Given the description of an element on the screen output the (x, y) to click on. 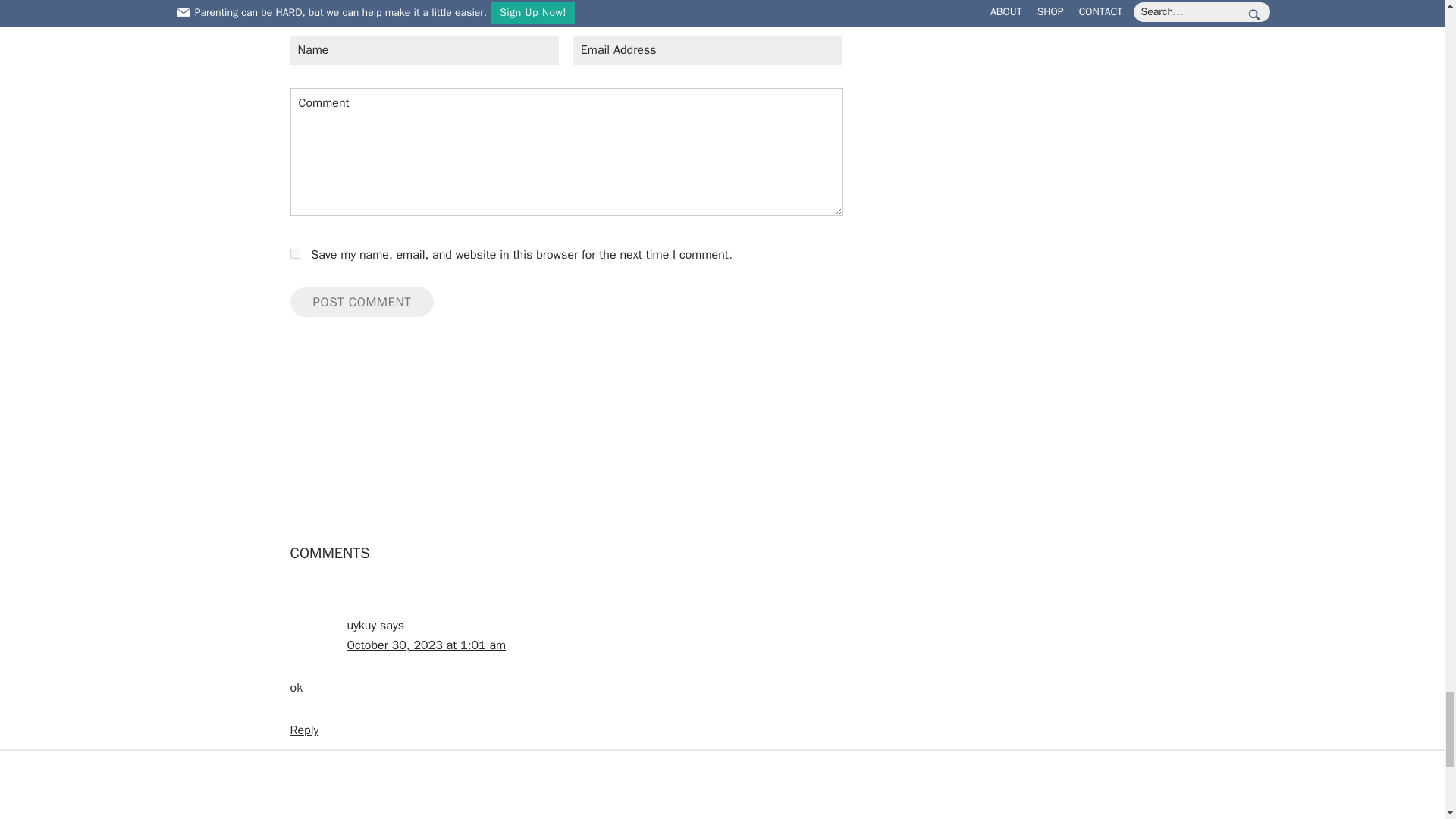
yes (294, 253)
Post Comment (361, 302)
